Given the description of an element on the screen output the (x, y) to click on. 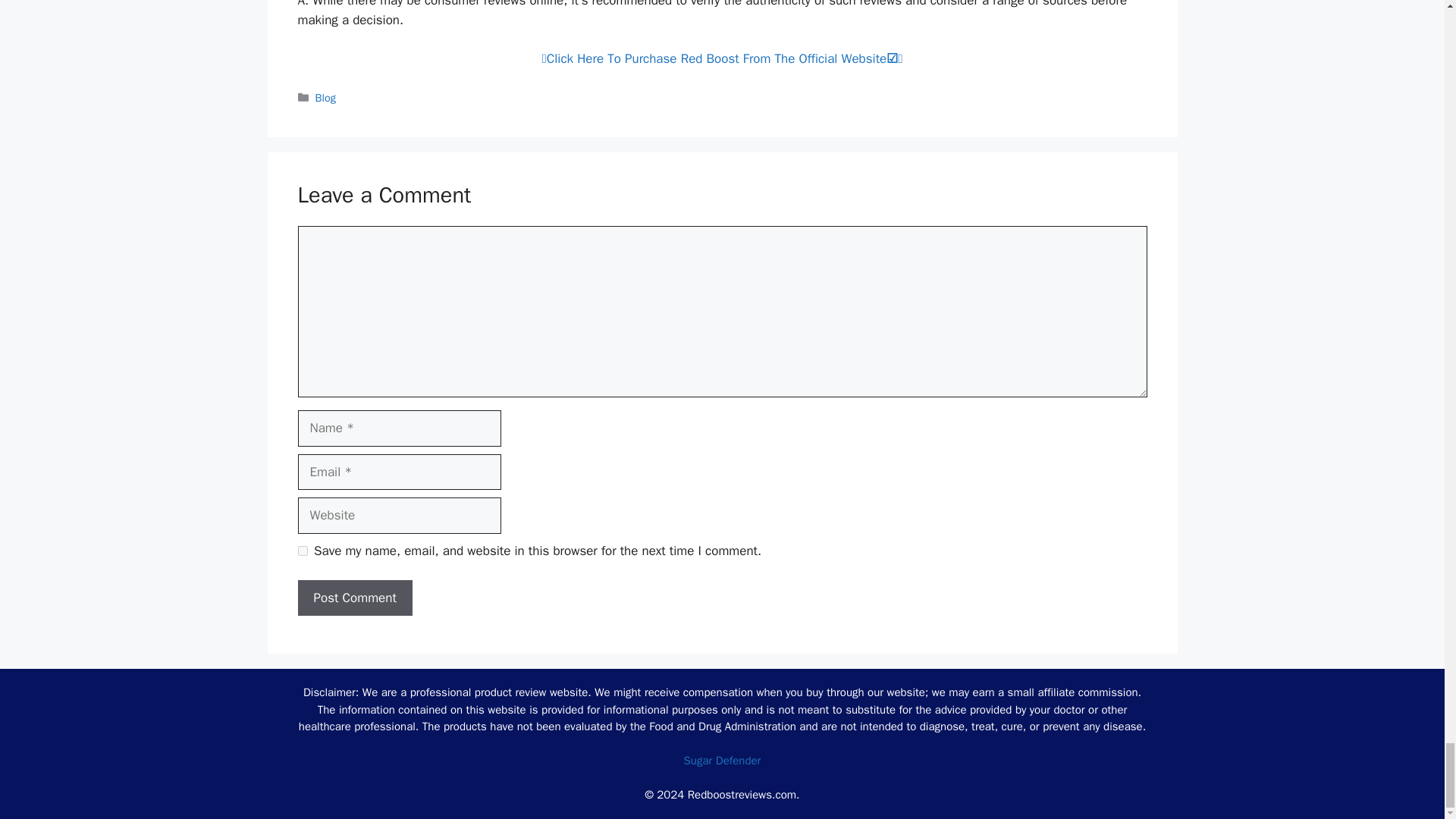
Blog (325, 97)
Post Comment (354, 597)
yes (302, 551)
Sugar Defender (722, 760)
Post Comment (354, 597)
